Given the description of an element on the screen output the (x, y) to click on. 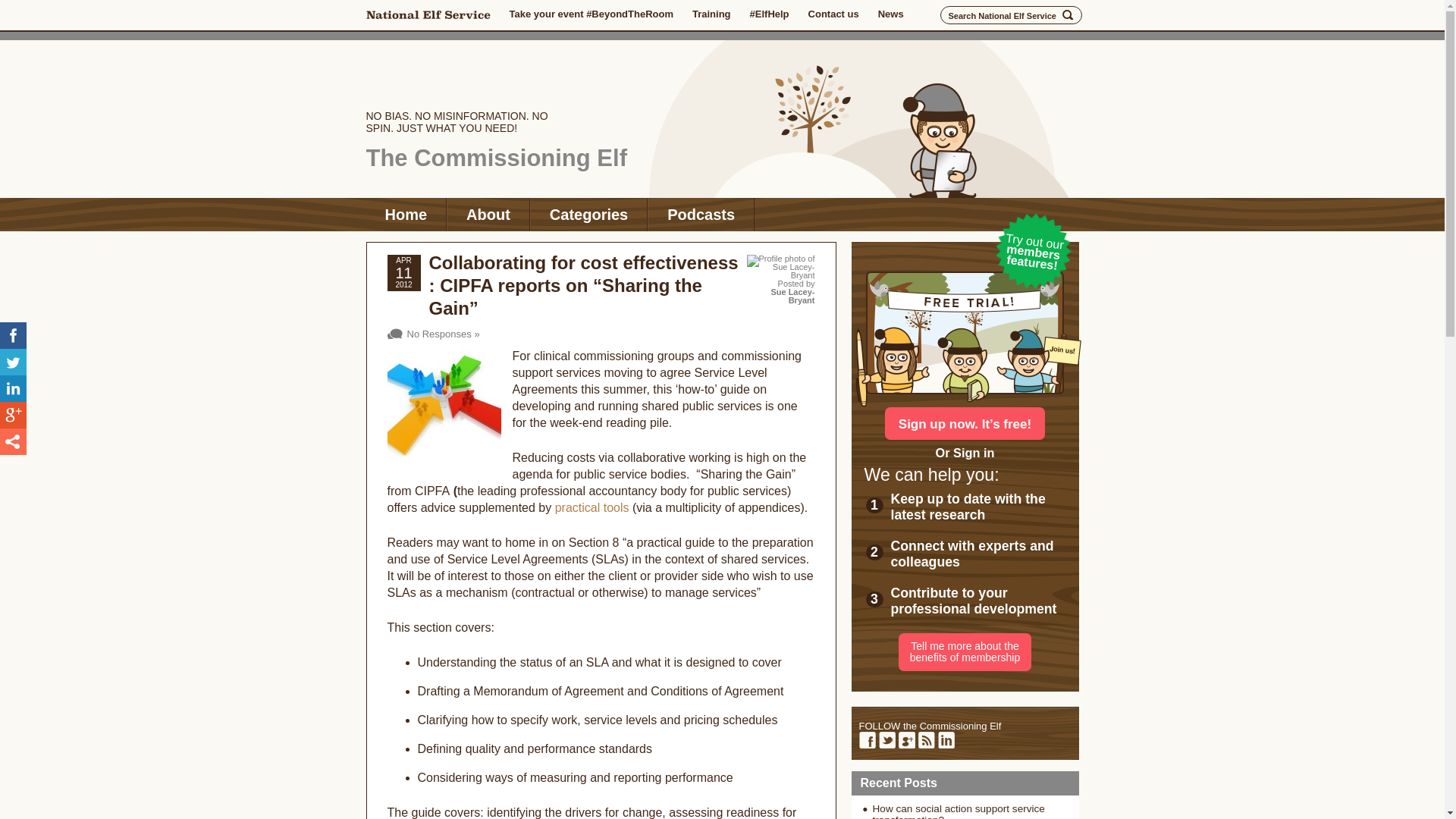
Follow us on Twitter (886, 740)
Search (1068, 14)
Tweet this on Twitter (13, 361)
Posts by Sue Lacey-Bryant (791, 295)
Find us on Facebook (867, 740)
Share on LinkedIn (13, 388)
Home (405, 214)
Share on Facebook (13, 335)
News (890, 13)
Categories (588, 214)
About (487, 214)
Search (1068, 14)
Contact us (833, 13)
Share via sharethis (13, 441)
